Given the description of an element on the screen output the (x, y) to click on. 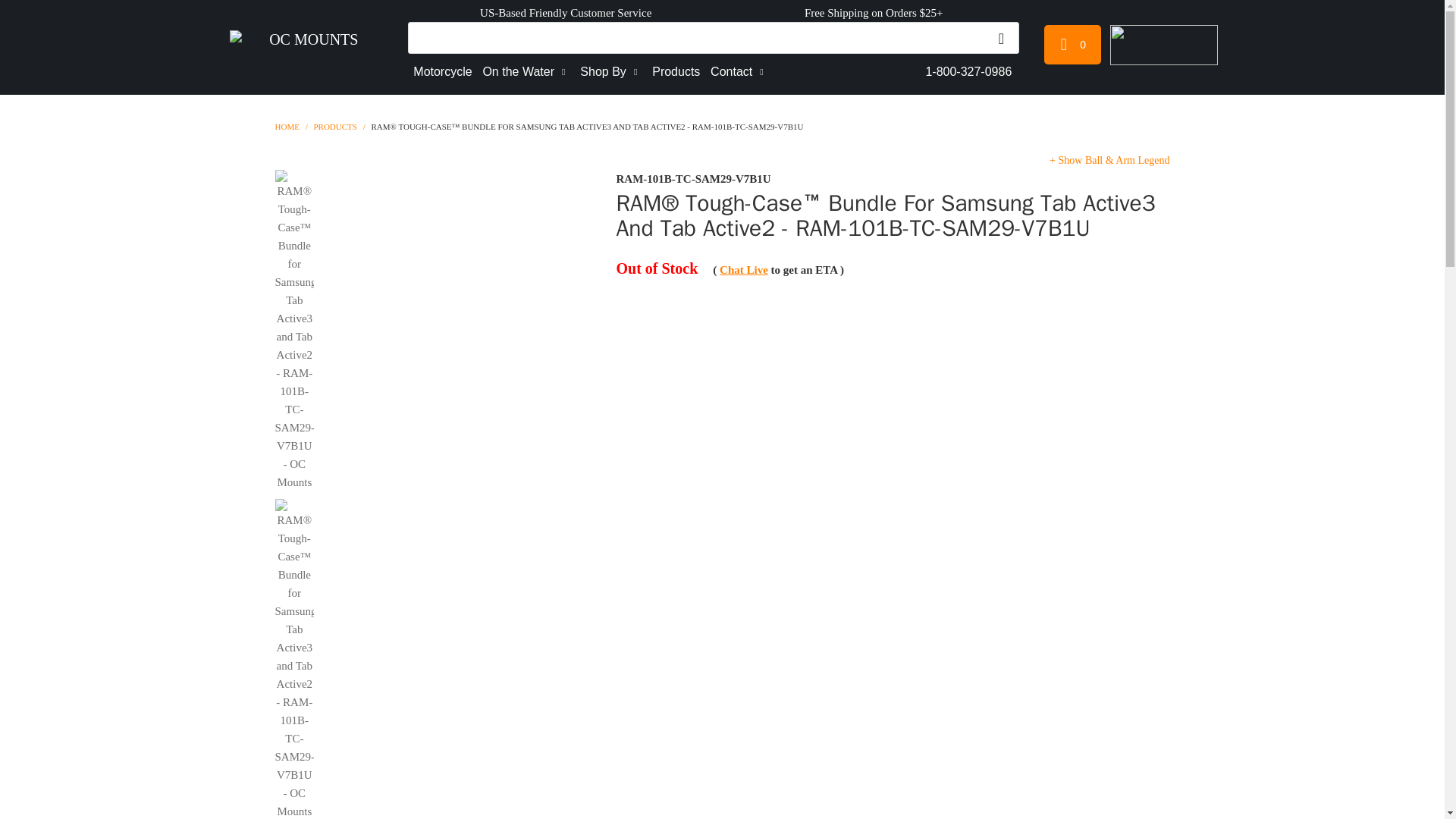
OC Mounts (286, 126)
Products (334, 126)
Oc-Mounts Live Chat (743, 269)
OC Mounts (307, 47)
